Given the description of an element on the screen output the (x, y) to click on. 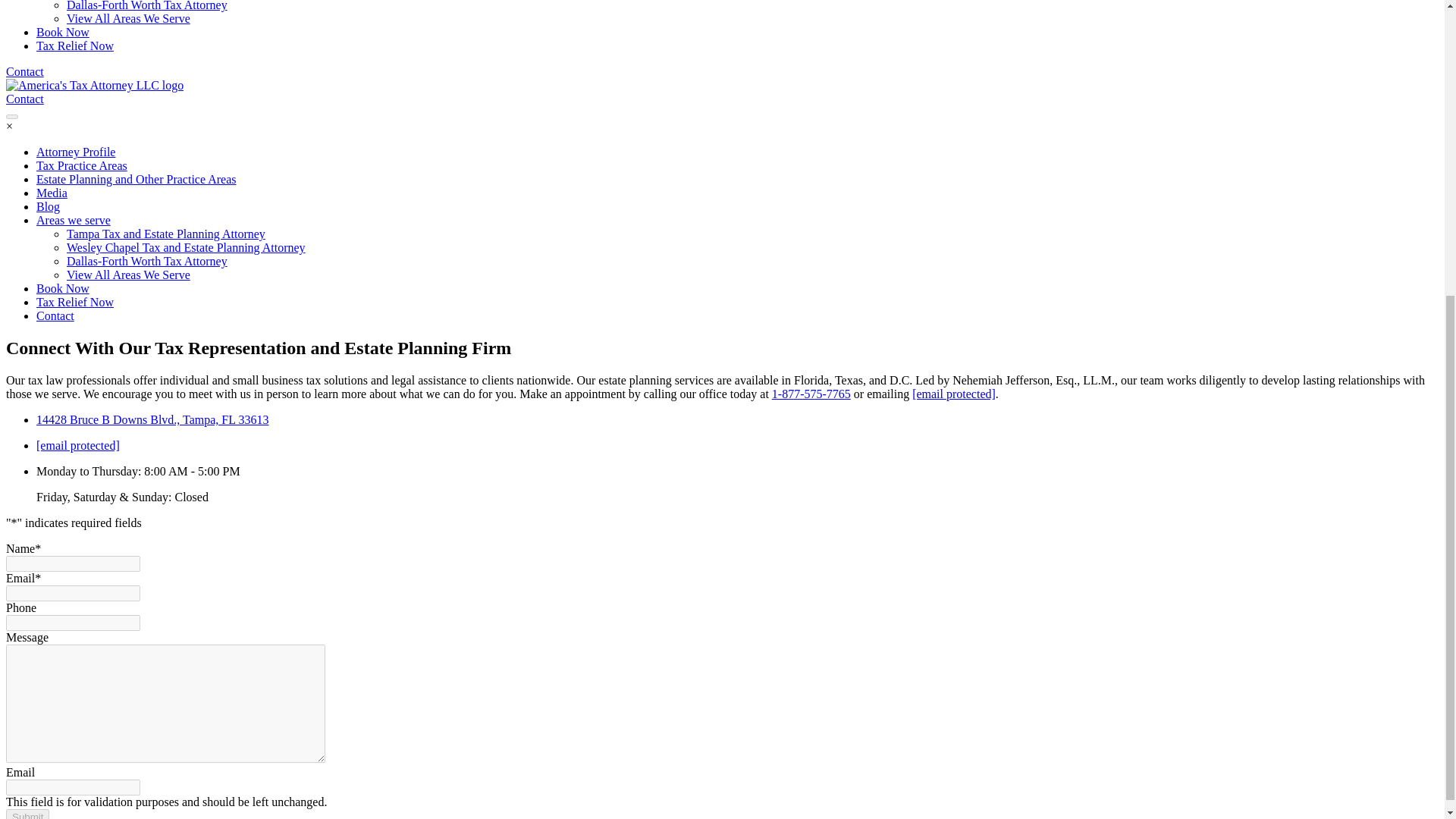
Book Now (62, 31)
View All Areas We Serve (128, 18)
Contact (24, 71)
Tax Relief Now (74, 45)
ATA LOGO 1 PNG (94, 85)
Dallas-Forth Worth Tax Attorney (146, 5)
